Given the description of an element on the screen output the (x, y) to click on. 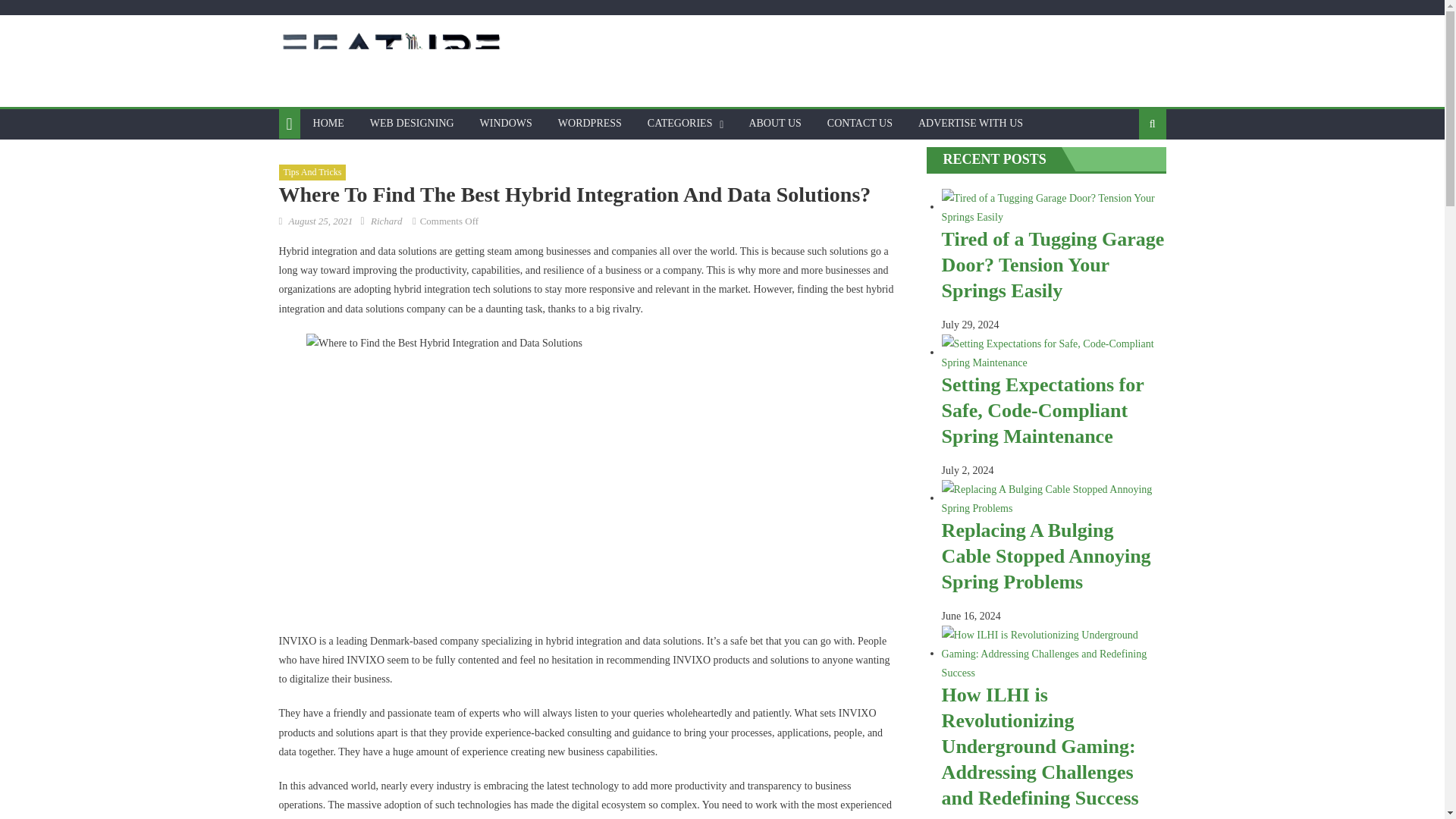
WEB DESIGNING (411, 123)
WORDPRESS (590, 123)
WINDOWS (505, 123)
HOME (328, 123)
CATEGORIES (679, 123)
